Given the description of an element on the screen output the (x, y) to click on. 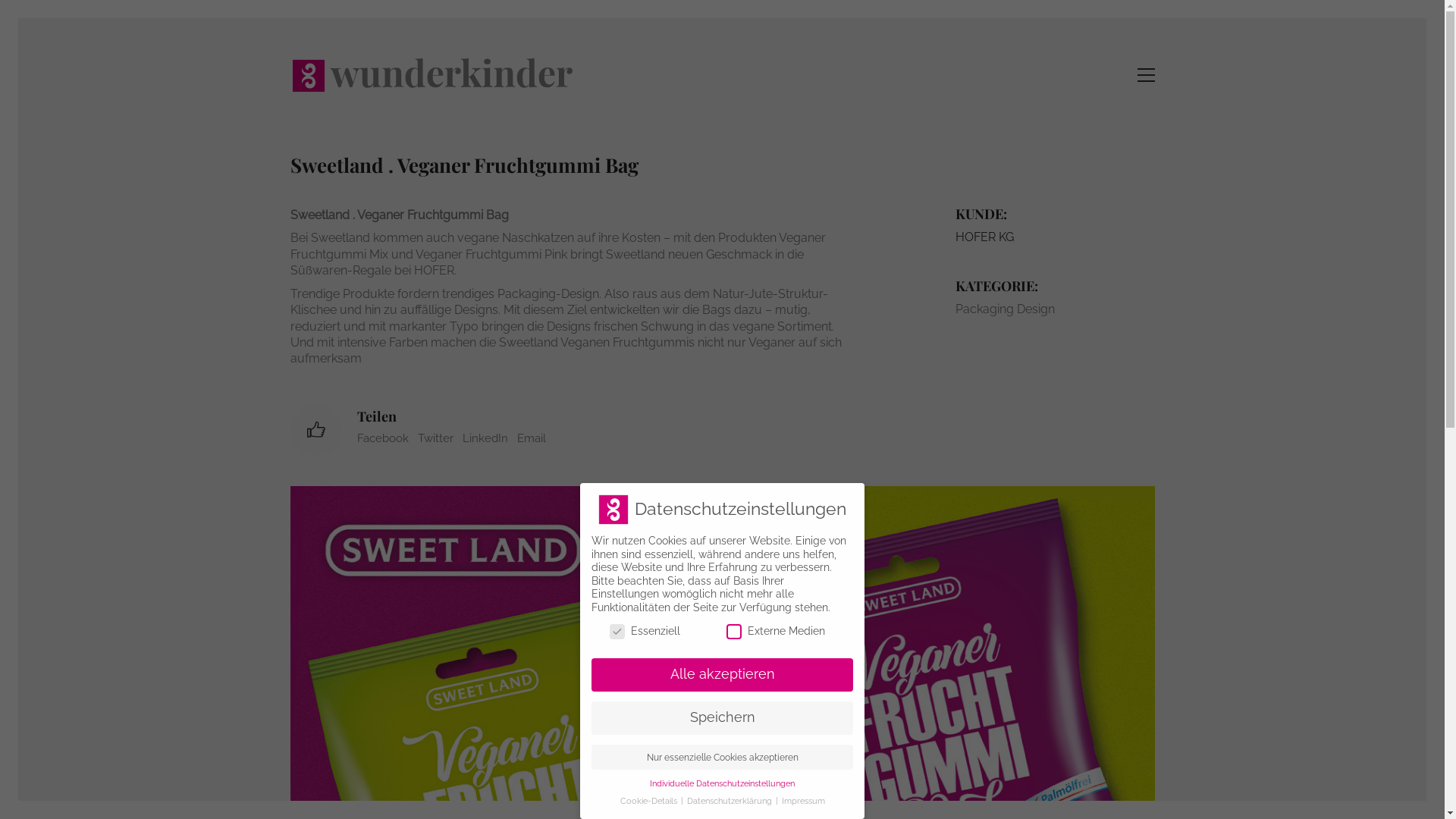
Email Element type: text (531, 438)
Speichern Element type: text (722, 717)
Twitter Element type: text (434, 438)
Cookie-Details Element type: text (649, 800)
Impressum Element type: text (802, 800)
Individuelle Datenschutzeinstellungen Element type: text (721, 782)
Nur essenzielle Cookies akzeptieren Element type: text (722, 757)
HOFER KG Element type: text (984, 236)
Facebook Element type: text (381, 438)
LinkedIn Element type: text (485, 438)
Alle akzeptieren Element type: text (722, 674)
